Given the description of an element on the screen output the (x, y) to click on. 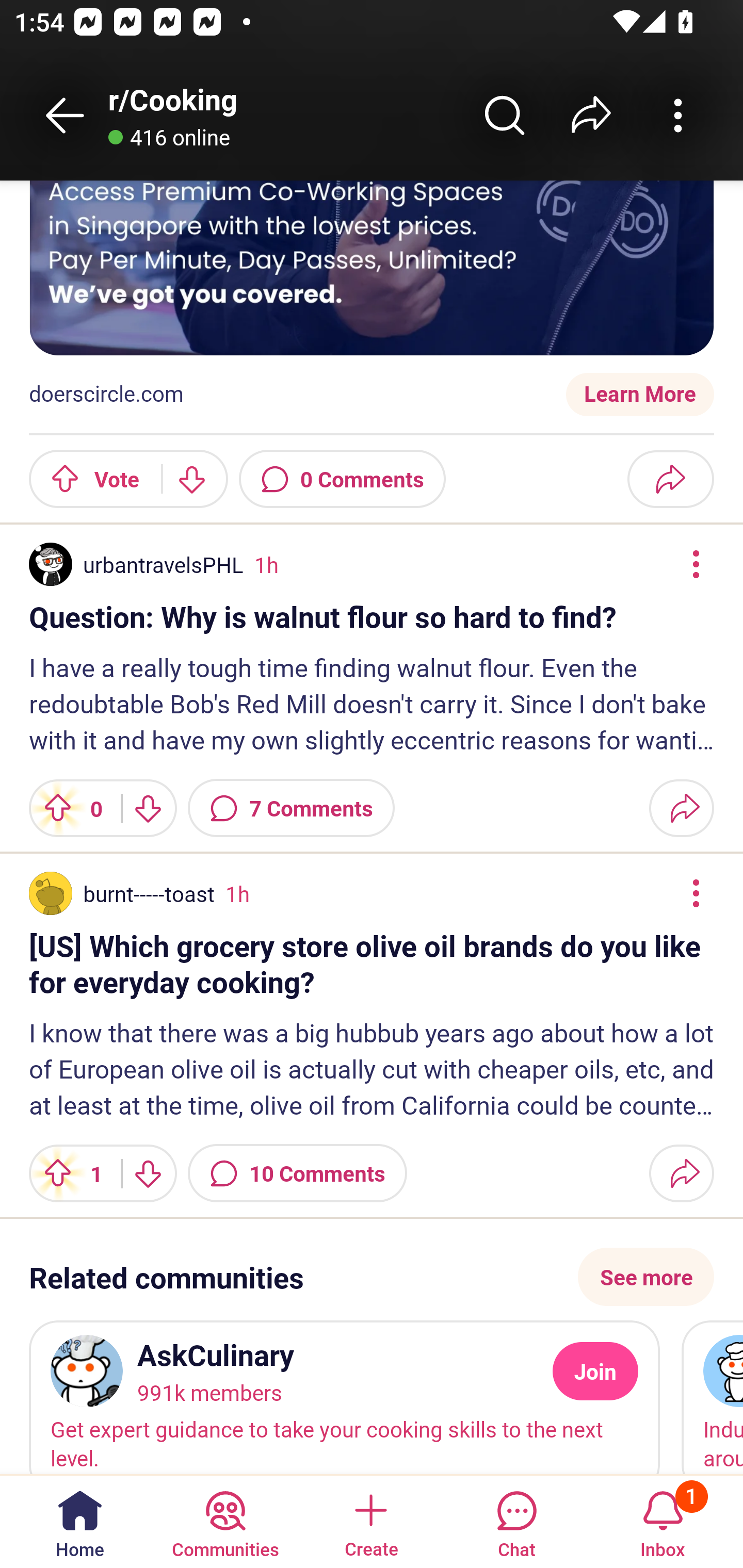
Back (64, 115)
Search r/﻿Cooking (504, 115)
Share r/﻿Cooking (591, 115)
More community actions (677, 115)
Related communities See more (371, 1277)
See more (646, 1277)
Join (595, 1371)
Home (80, 1520)
Communities (225, 1520)
Create a post Create (370, 1520)
Chat (516, 1520)
Inbox, has 1 notification 1 Inbox (662, 1520)
